Given the description of an element on the screen output the (x, y) to click on. 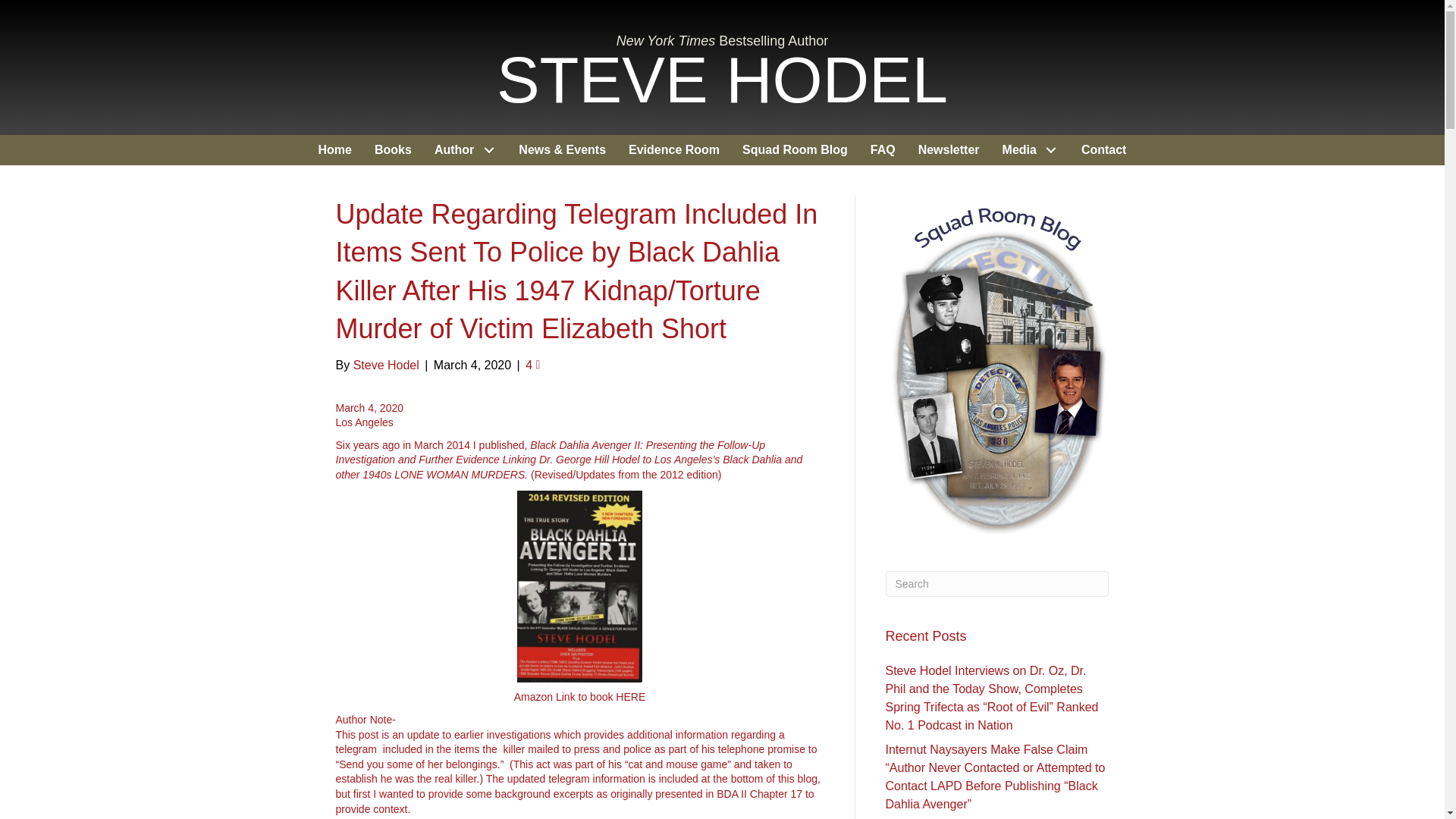
Author (464, 150)
Home (334, 150)
Evidence Room (673, 150)
FAQ (883, 150)
Media (1030, 150)
Squad Room Blog (794, 150)
4 (532, 364)
HERE (630, 696)
Newsletter (949, 150)
Type and press Enter to search. (997, 583)
